Given the description of an element on the screen output the (x, y) to click on. 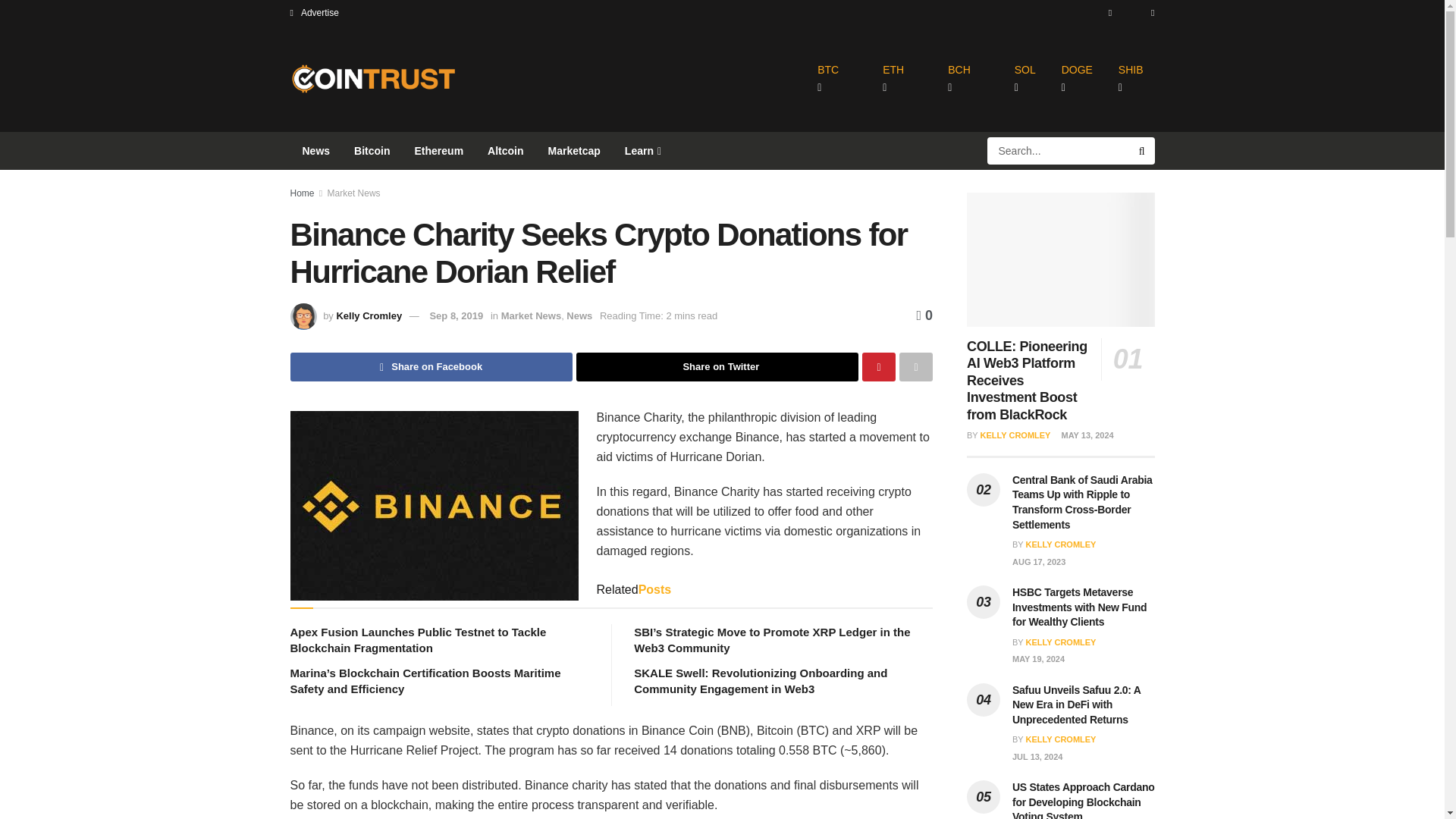
Bitcoin (371, 150)
Altcoin (505, 150)
Ethereum (439, 150)
Learn (641, 150)
News (315, 150)
DOGE (1077, 79)
Advertise (313, 12)
Marketcap (573, 150)
